Given the description of an element on the screen output the (x, y) to click on. 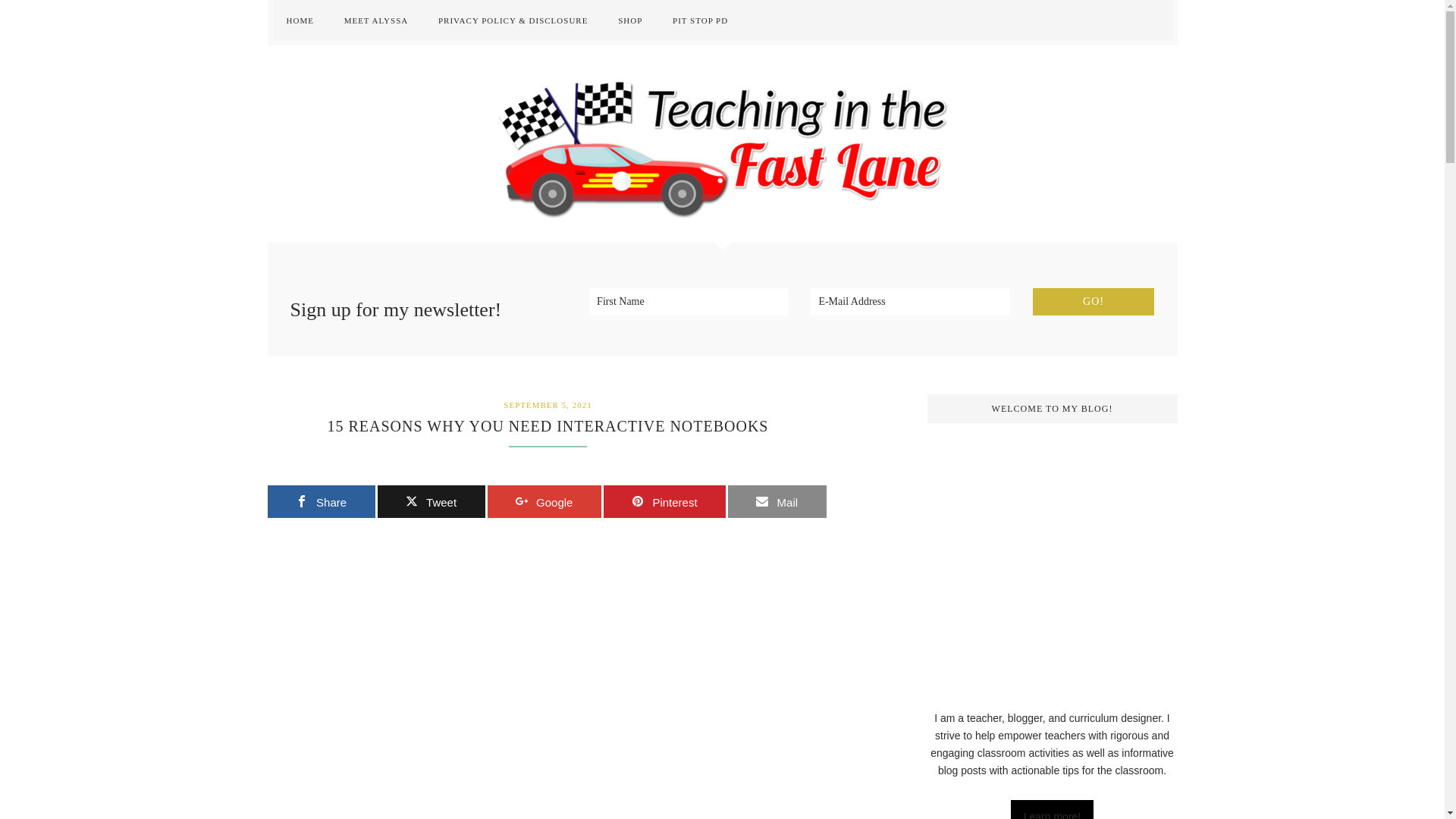
Go! (1093, 301)
PIT STOP PD (700, 20)
Pinterest (664, 501)
Go! (1093, 301)
MEET ALYSSA (376, 20)
Share (320, 501)
Google (542, 501)
Tweet (430, 501)
TEACHING IN THE FAST LANE (722, 143)
SHOP (630, 20)
